Given the description of an element on the screen output the (x, y) to click on. 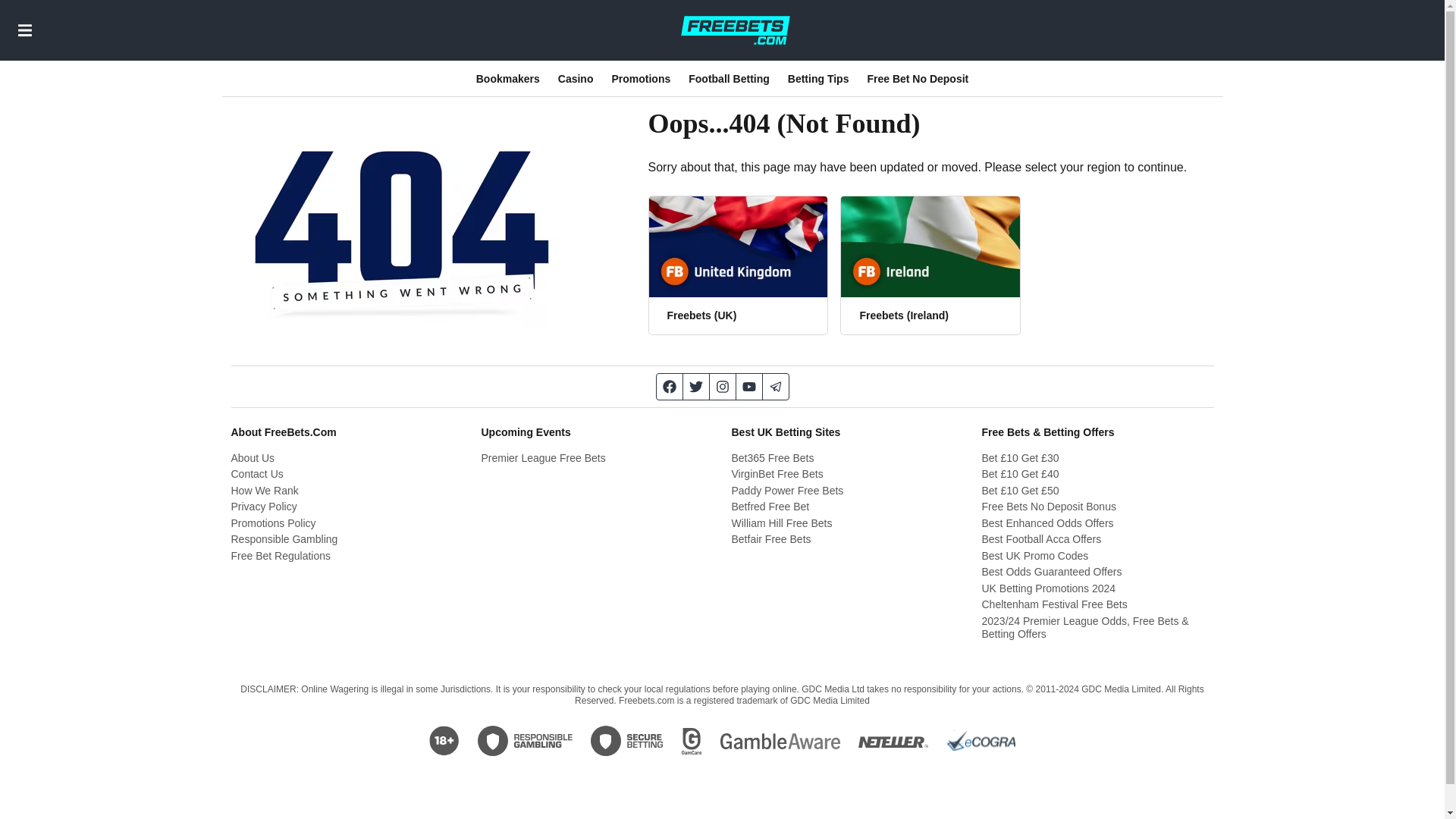
FreeBets Logo (735, 29)
Telegram (775, 386)
Facebook page (669, 386)
Twitter feed (695, 386)
Instagram page (723, 386)
Youtube page (748, 386)
